Given the description of an element on the screen output the (x, y) to click on. 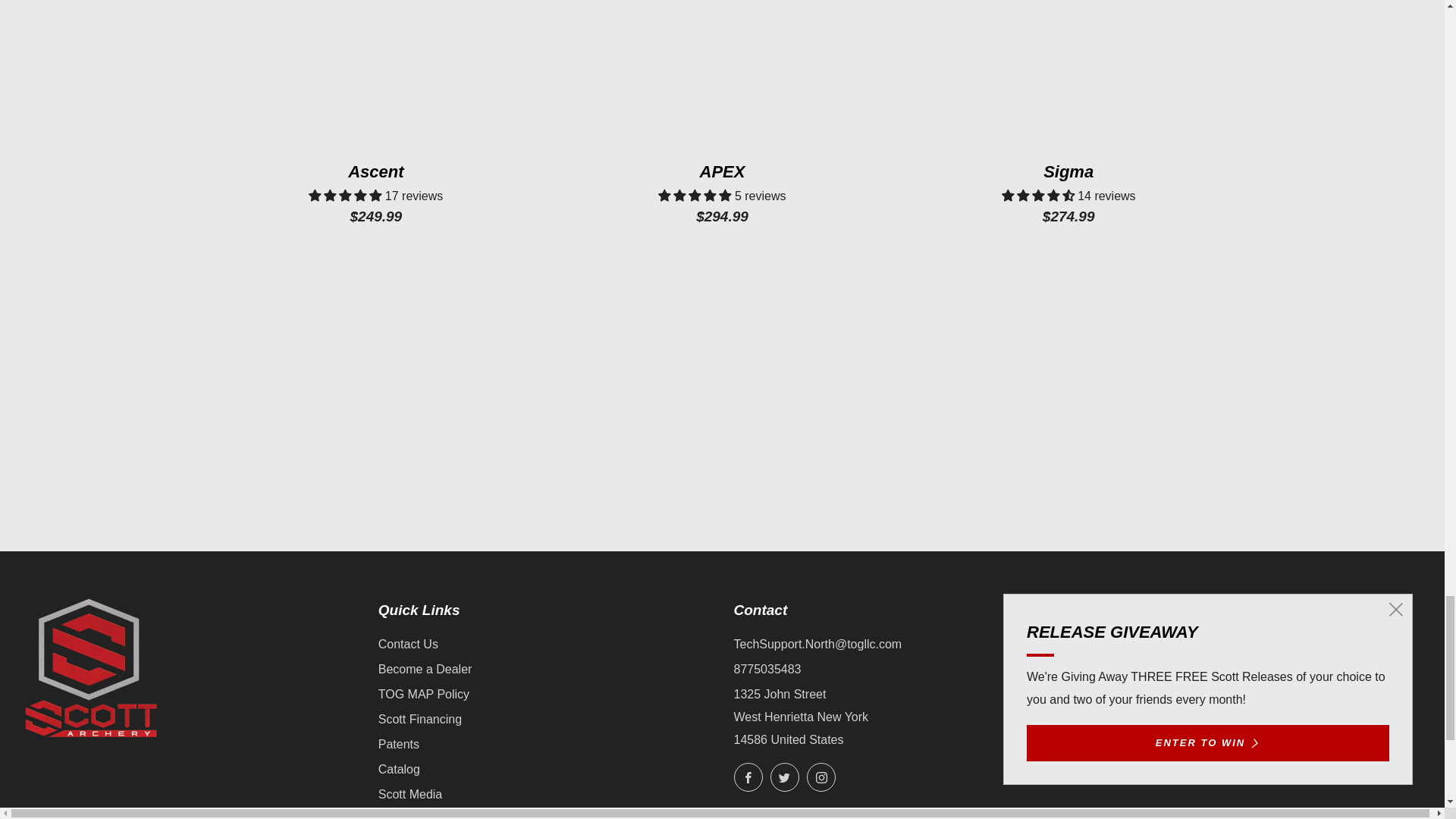
Sigma (1068, 190)
APEX (721, 190)
Ascent (376, 190)
